Given the description of an element on the screen output the (x, y) to click on. 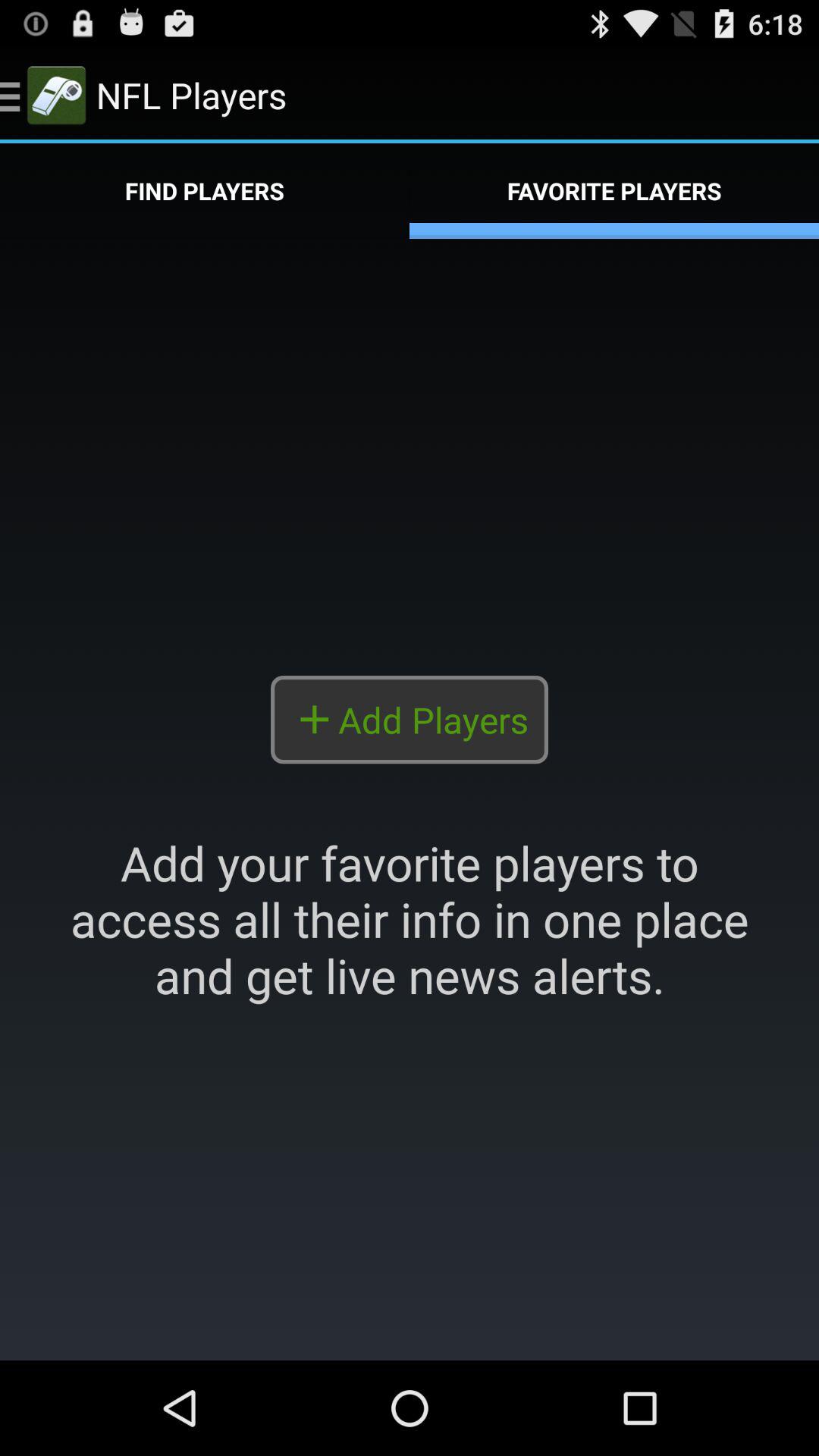
swipe until the find players app (204, 190)
